Given the description of an element on the screen output the (x, y) to click on. 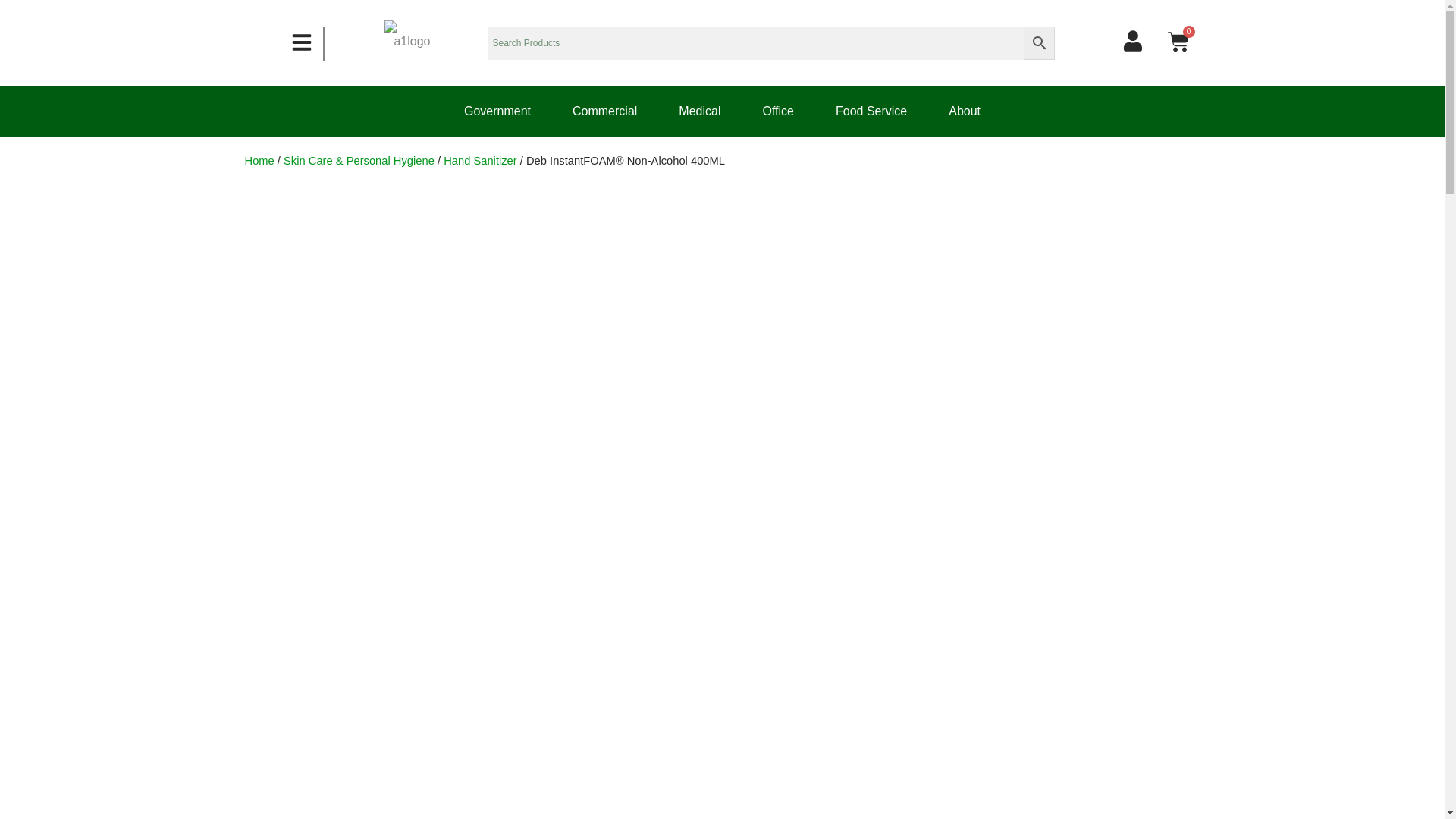
Medical (699, 111)
Food Service (871, 111)
Commercial (604, 111)
Hand Sanitizer (480, 160)
Home (258, 160)
About (964, 111)
a1logo (407, 43)
Office (777, 111)
Government (497, 111)
